Given the description of an element on the screen output the (x, y) to click on. 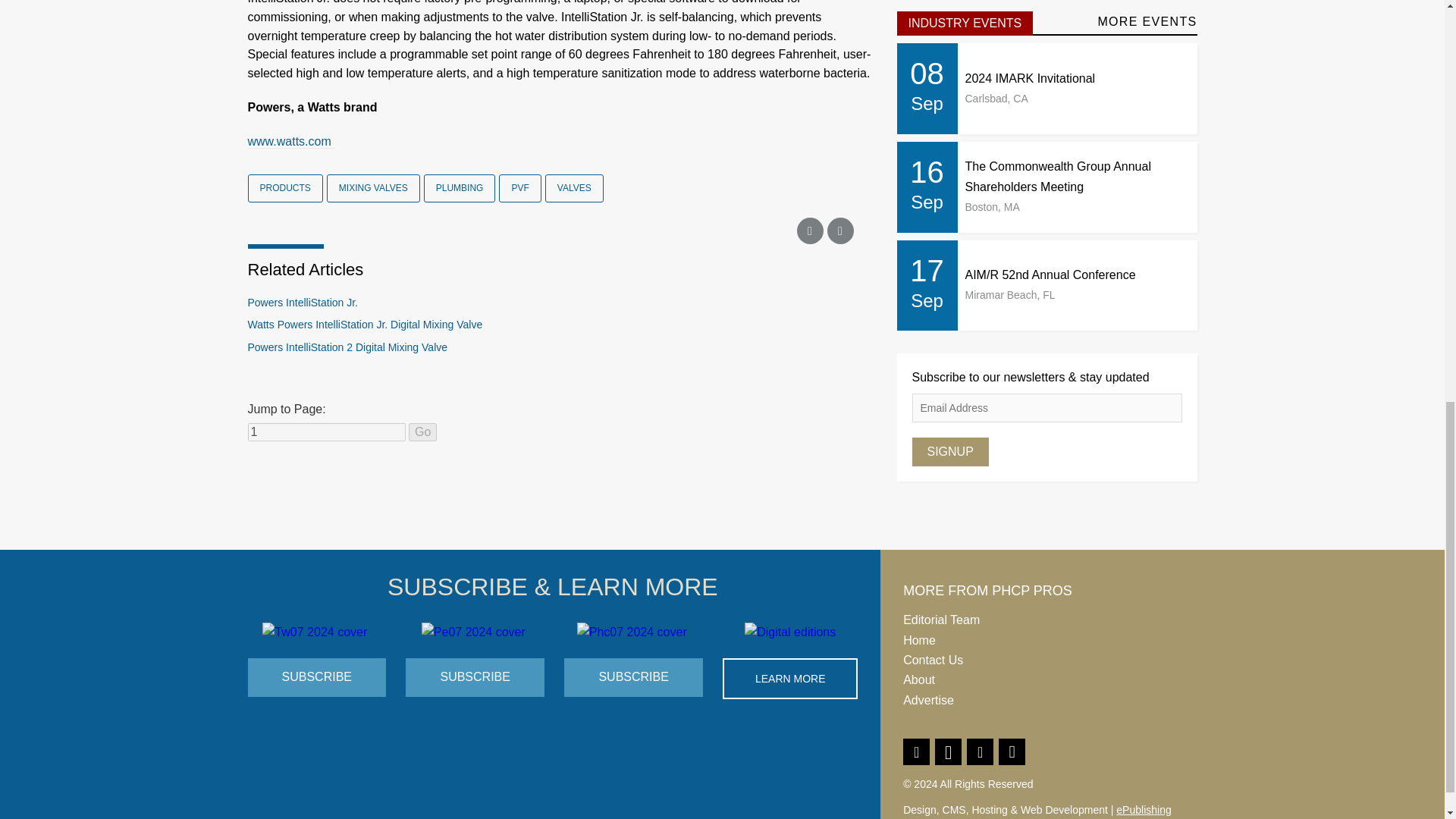
SIGNUP (949, 451)
1 (325, 432)
Go (422, 432)
